Given the description of an element on the screen output the (x, y) to click on. 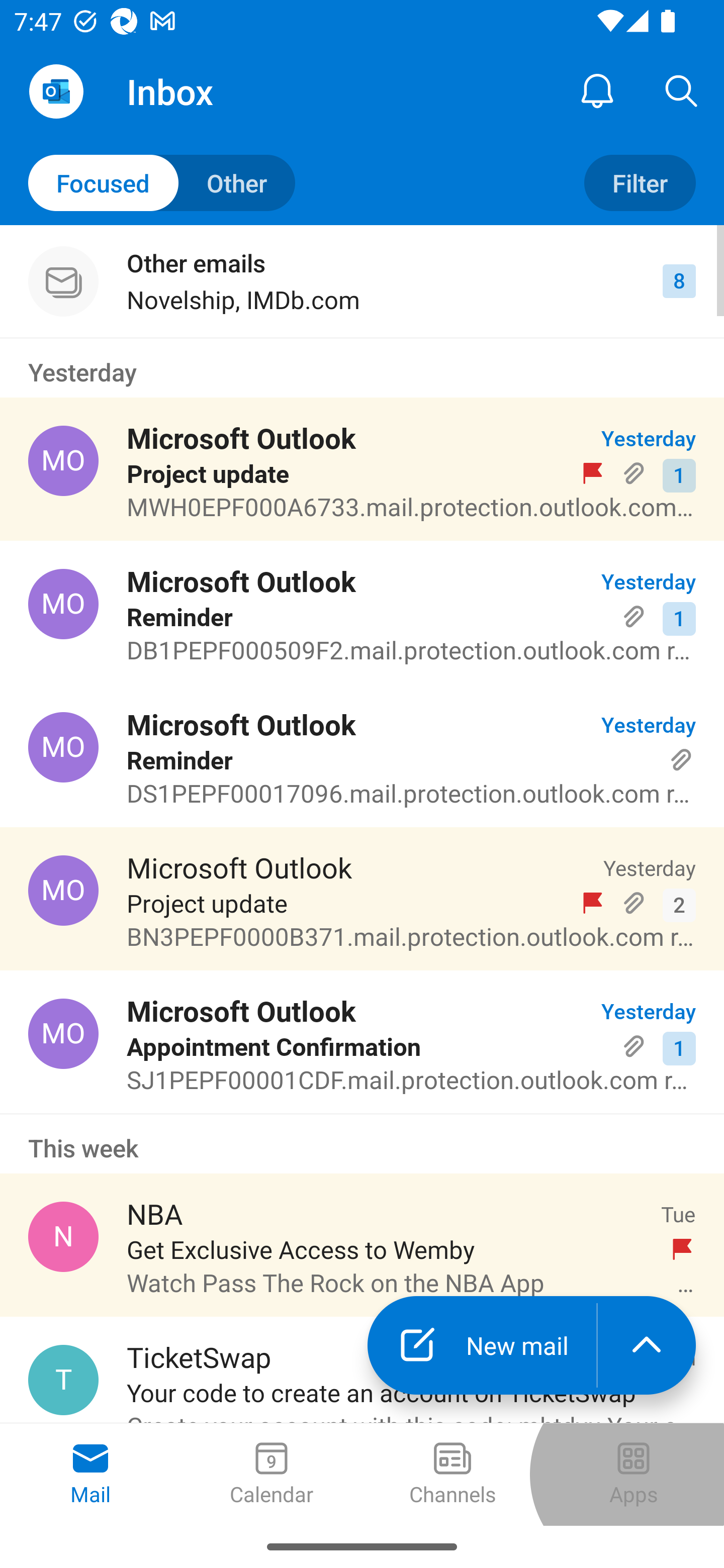
Notification Center (597, 90)
Search, ,  (681, 90)
Open Navigation Drawer (55, 91)
Toggle to other mails (161, 183)
Filter (639, 183)
Other emails Novelship, IMDb.com 8 (362, 281)
NBA, NBA@email.nba.com (63, 1236)
New mail (481, 1344)
launch the extended action menu (646, 1344)
TicketSwap, info@ticketswap.com (63, 1380)
Calendar (271, 1474)
Channels (452, 1474)
Apps (633, 1474)
